Given the description of an element on the screen output the (x, y) to click on. 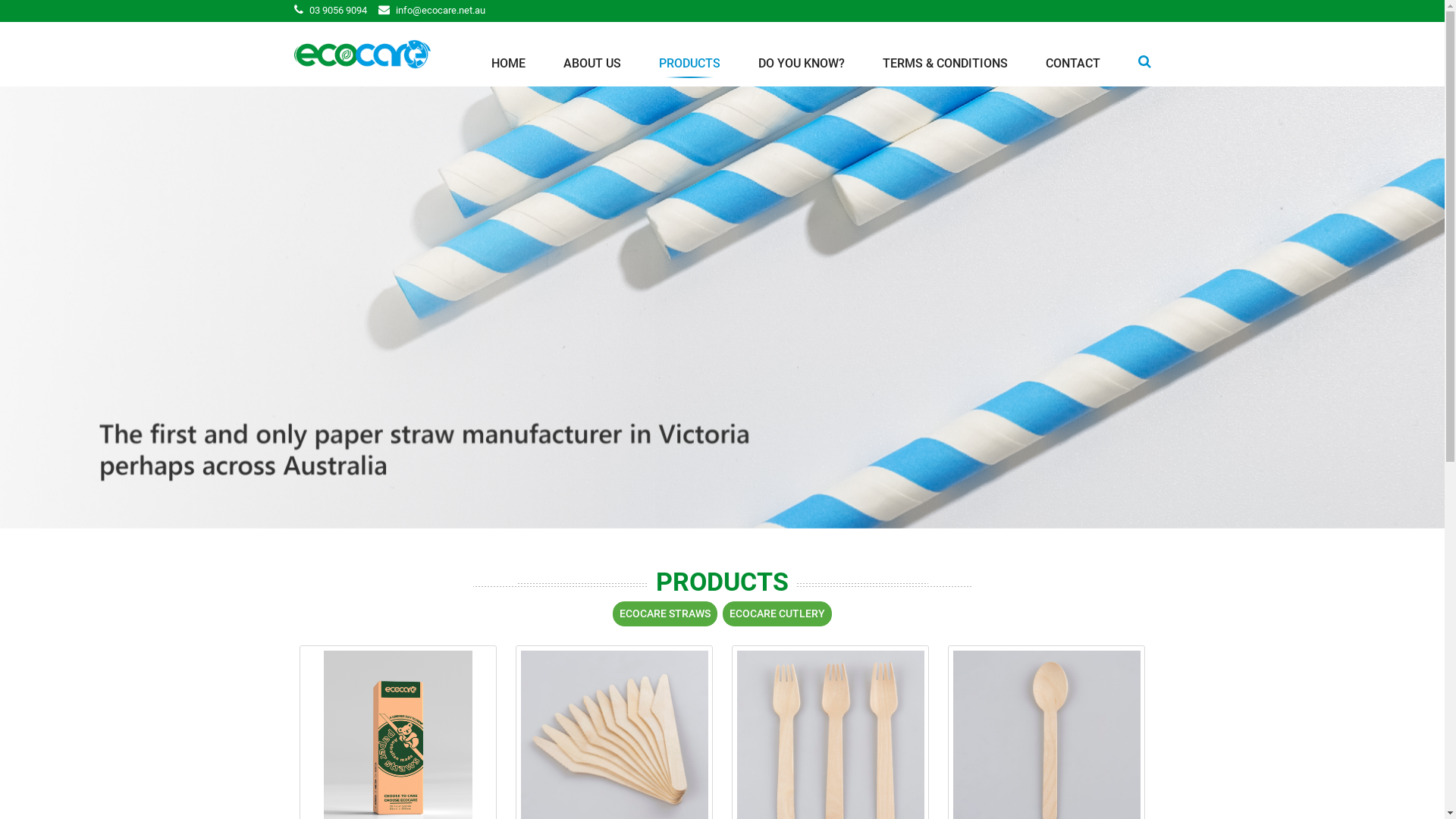
DO YOU KNOW? Element type: text (801, 67)
info@ecocare.net.au Element type: text (440, 9)
TERMS & CONDITIONS Element type: text (944, 67)
ECOCARE CUTLERY Element type: text (776, 613)
product Element type: hover (722, 306)
CONTACT Element type: text (1071, 67)
ABOUT US Element type: text (591, 67)
HOME Element type: text (508, 67)
PRODUCTS Element type: text (688, 67)
ECOCARE STRAWS Element type: text (664, 613)
ECOCARE Element type: hover (362, 54)
on Element type: text (4, 4)
